Given the description of an element on the screen output the (x, y) to click on. 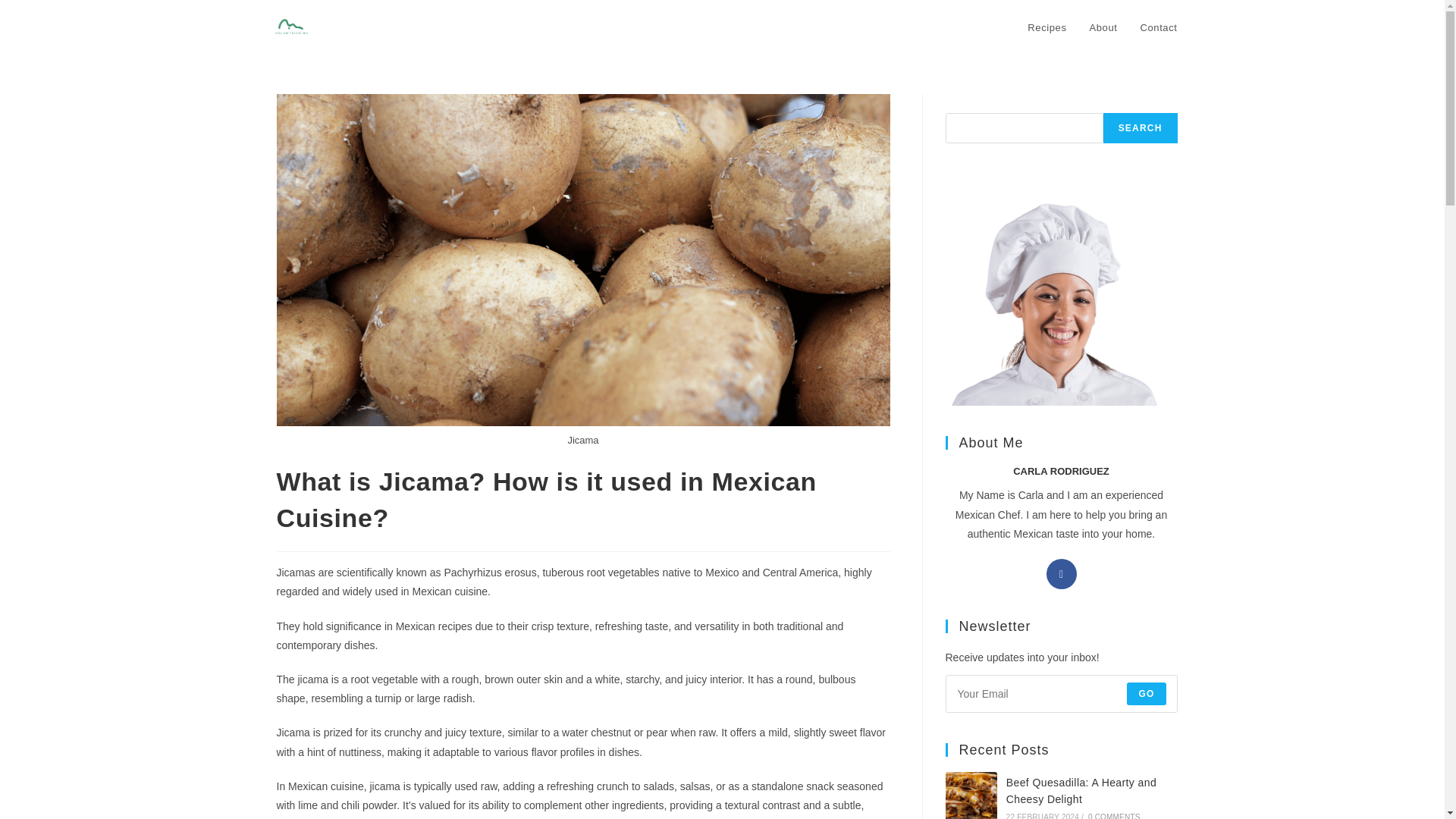
Contact (1158, 28)
Recipes (1046, 28)
Beef Quesadilla: A Hearty and Cheesy Delight (969, 795)
GO (1146, 693)
About (1103, 28)
0 COMMENTS (1113, 816)
SEARCH (1140, 128)
Beef Quesadilla: A Hearty and Cheesy Delight (1081, 790)
